Given the description of an element on the screen output the (x, y) to click on. 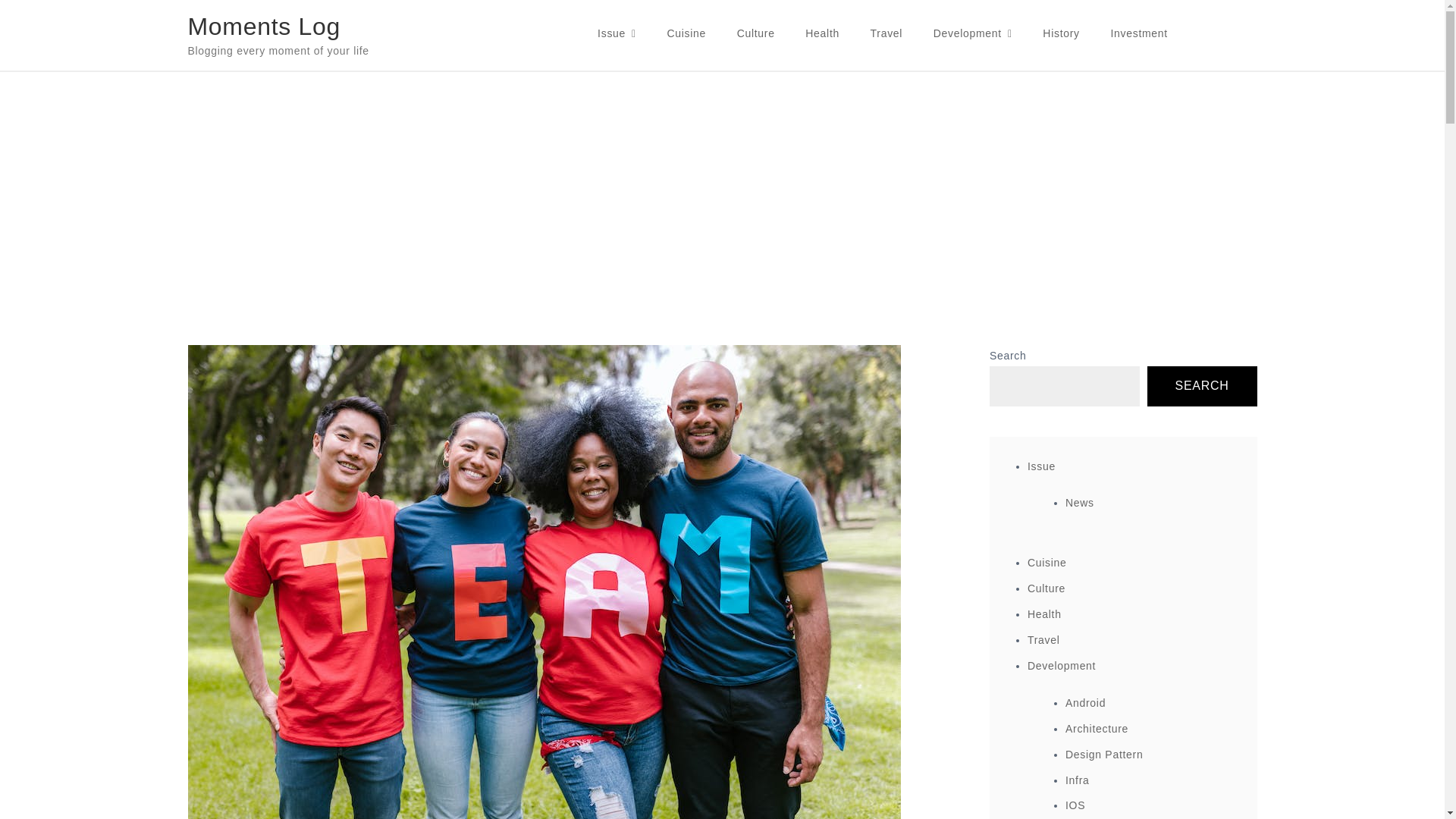
Travel (887, 33)
Moments Log (263, 26)
Health (822, 33)
Cuisine (685, 33)
Investment (1138, 33)
Issue (616, 33)
History (1061, 33)
Culture (756, 33)
Development (973, 33)
